Given the description of an element on the screen output the (x, y) to click on. 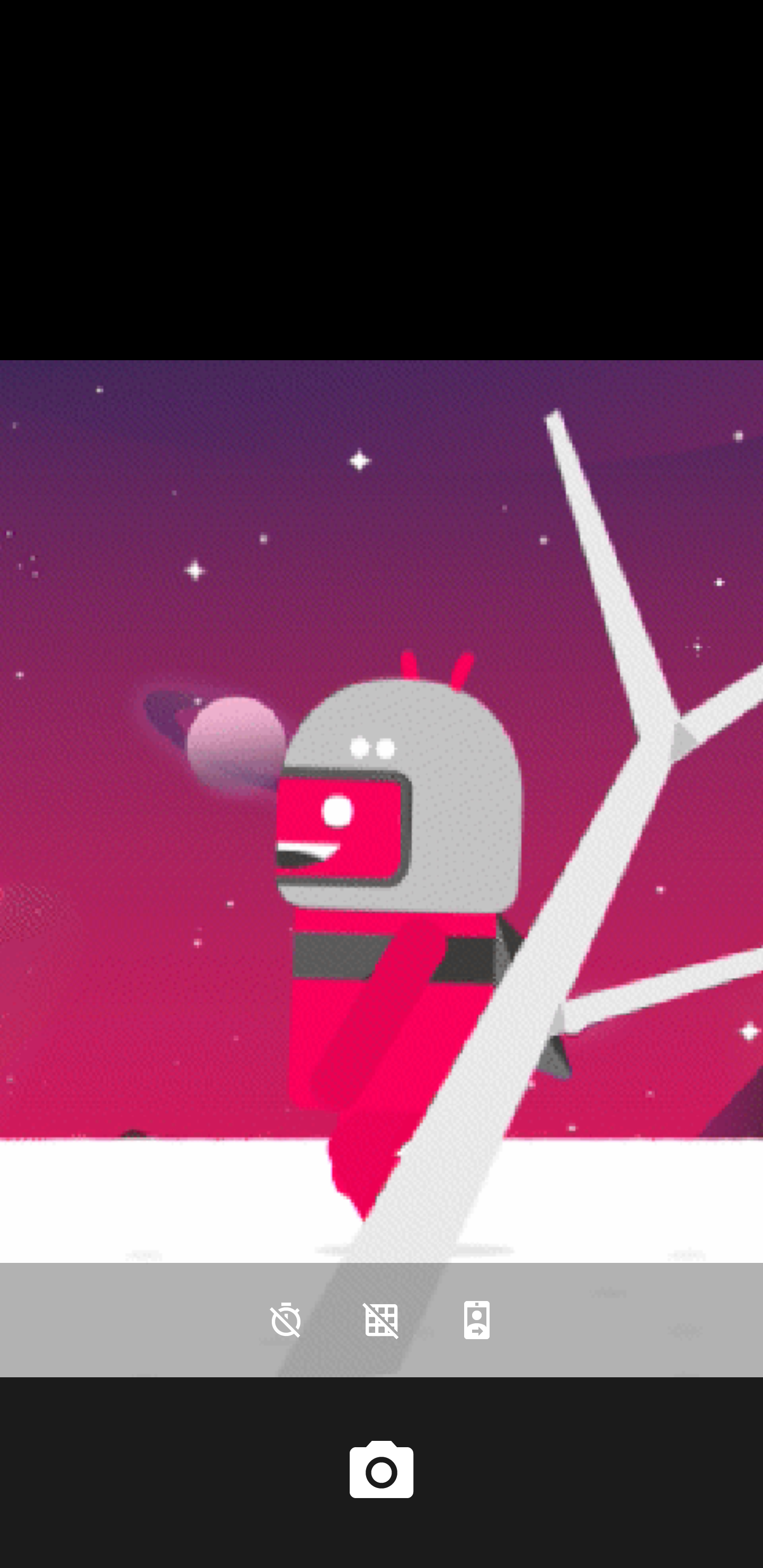
Countdown timer is off (285, 1319)
Grid lines off (381, 1319)
Front camera (476, 1319)
Shutter (381, 1472)
